Given the description of an element on the screen output the (x, y) to click on. 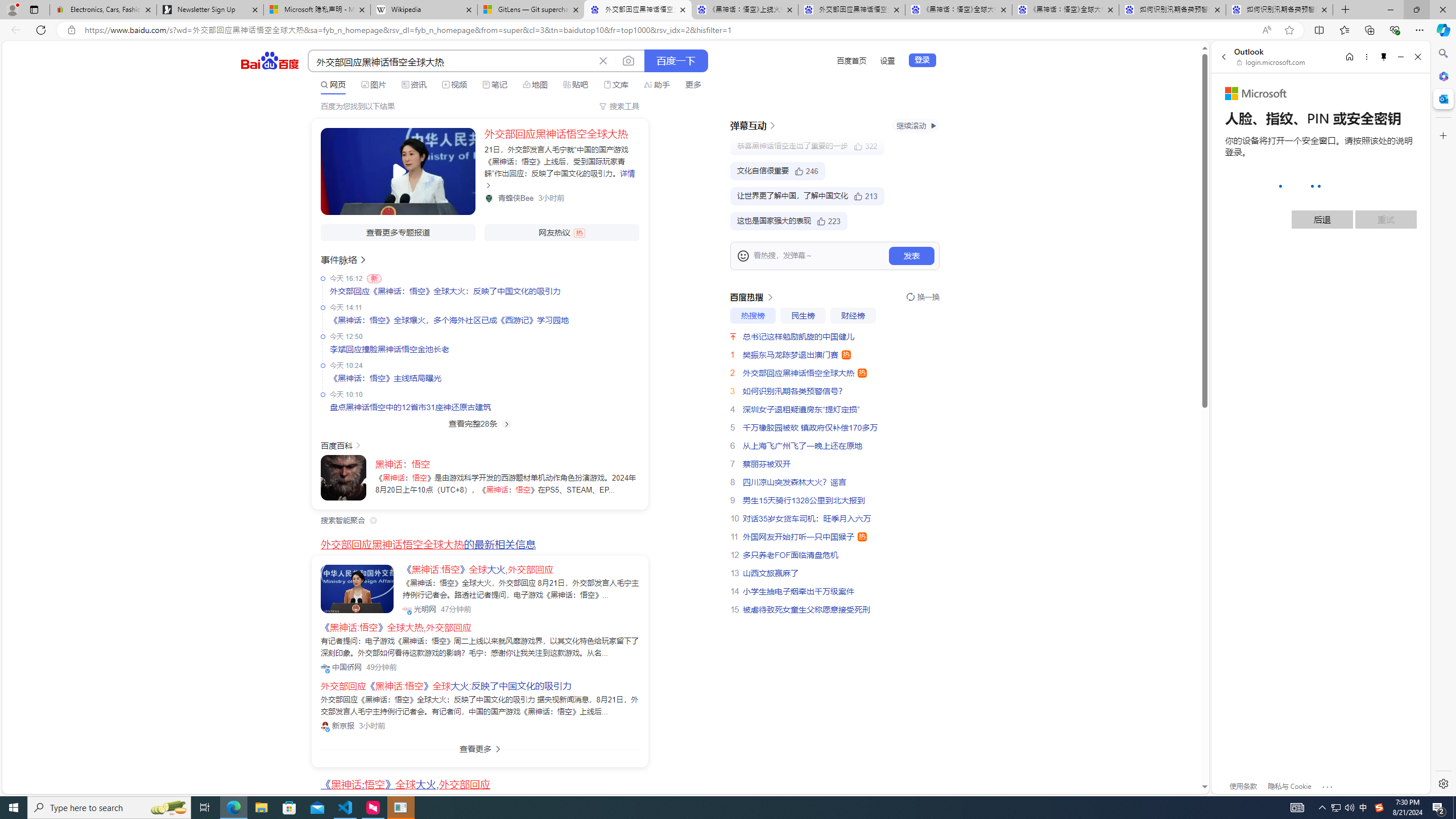
Newsletter Sign Up (209, 9)
Class: c-img c-img-radius-large (356, 589)
login.microsoft.com (1271, 61)
